Given the description of an element on the screen output the (x, y) to click on. 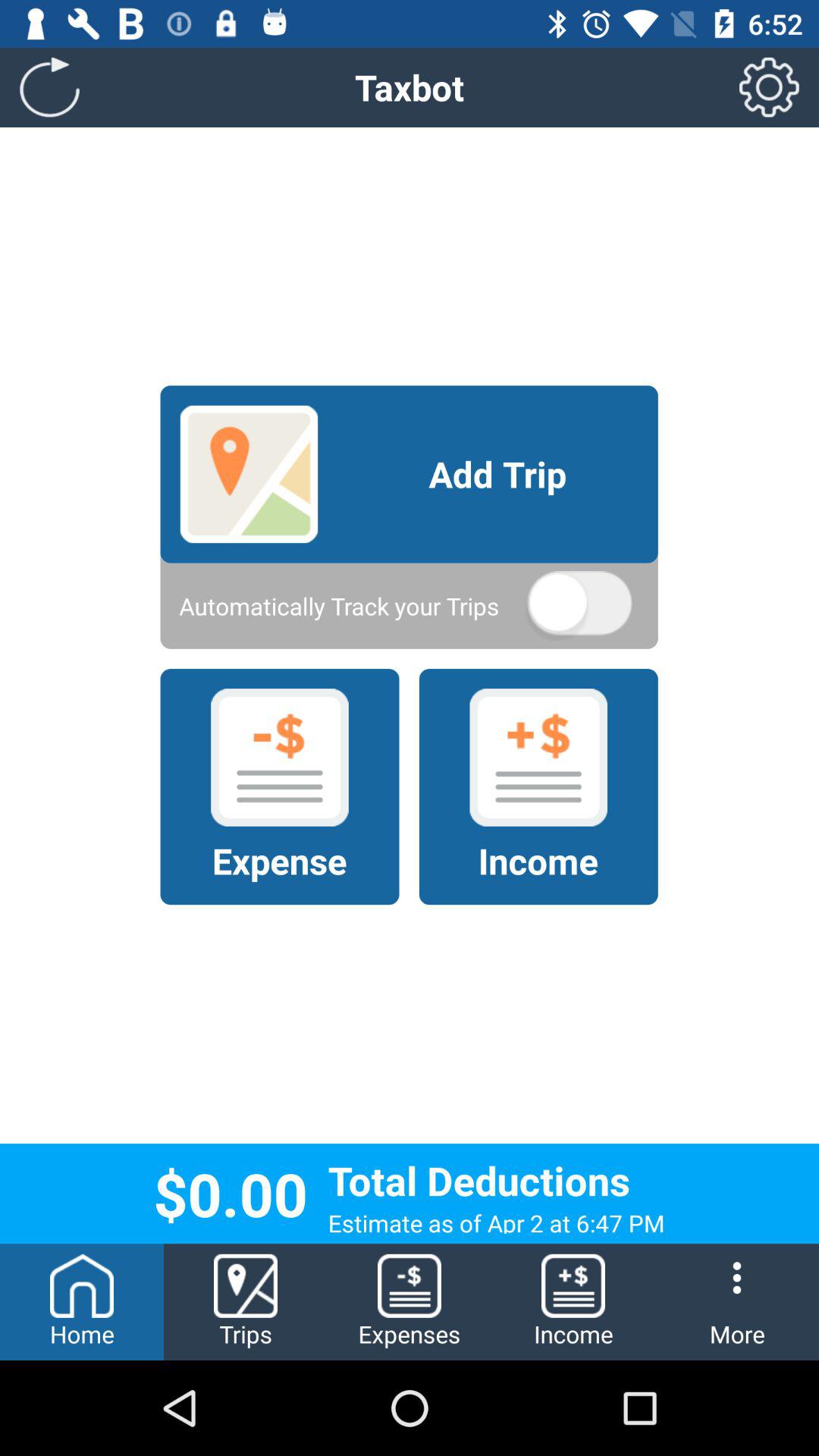
choose icon next to automatically track your (578, 605)
